Given the description of an element on the screen output the (x, y) to click on. 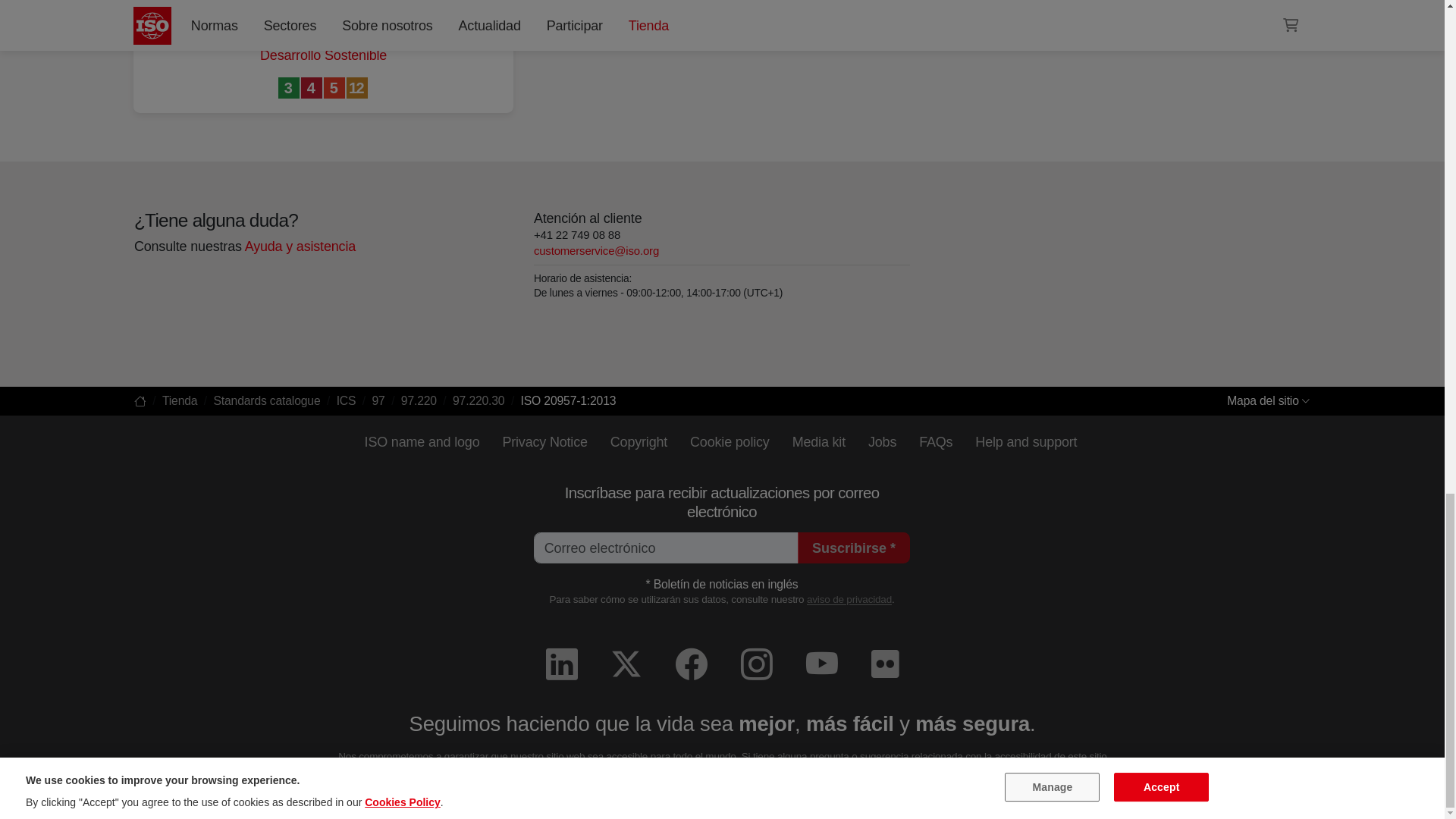
Quality Education (312, 87)
Good Health and Well-being (289, 87)
